Given the description of an element on the screen output the (x, y) to click on. 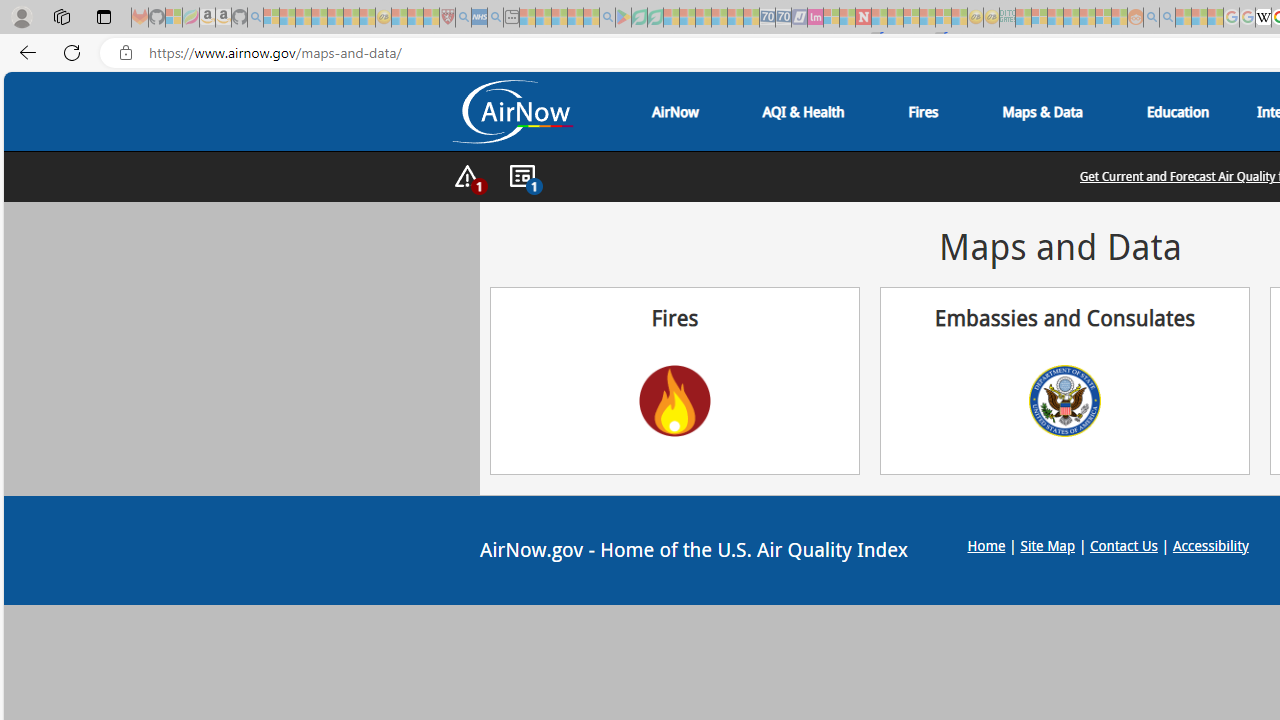
US Department of State Seal (1064, 400)
Contact Us (1123, 544)
